Given the description of an element on the screen output the (x, y) to click on. 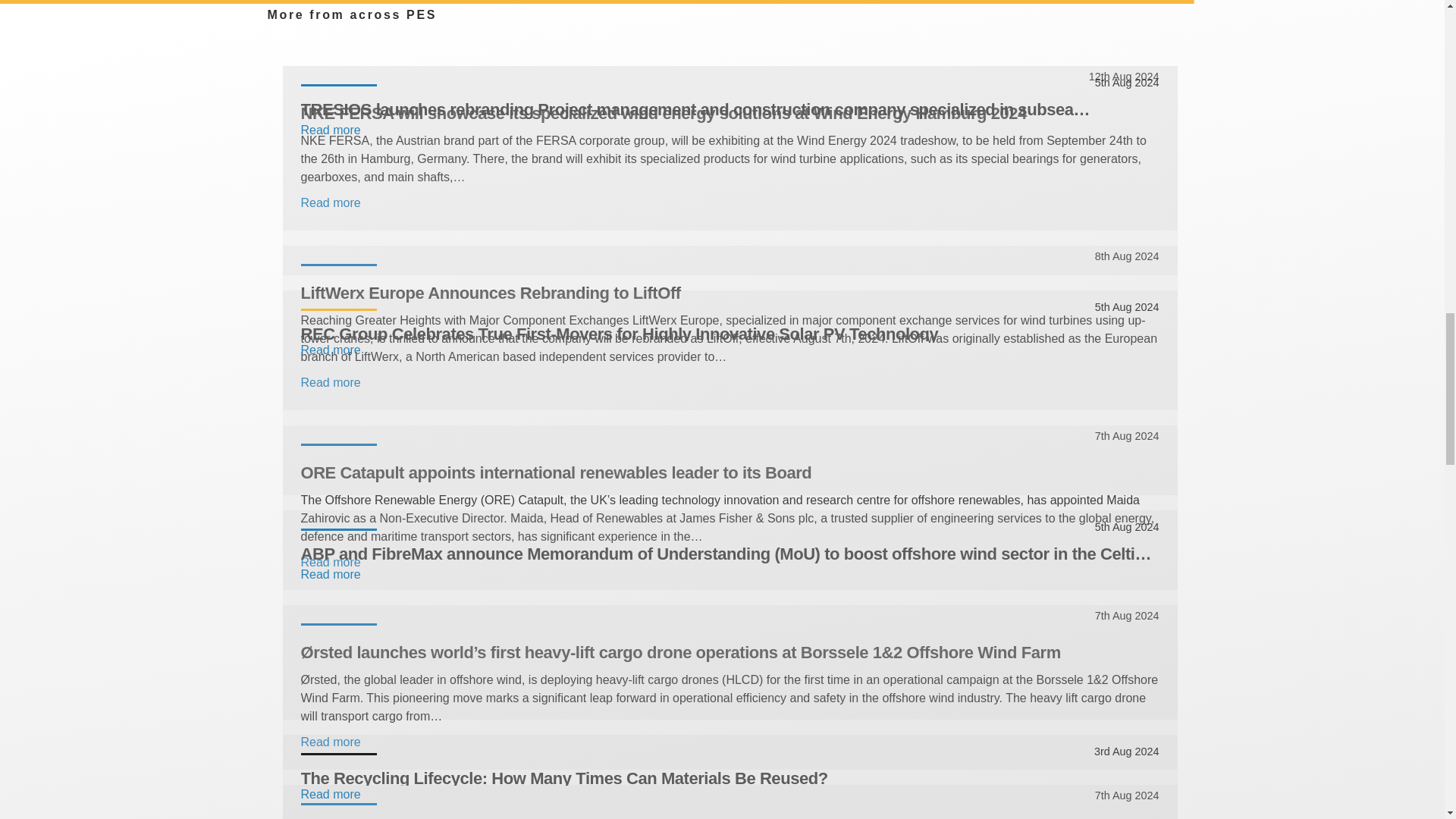
LiftWerx Europe Announces Rebranding to LiftOff (728, 292)
